Given the description of an element on the screen output the (x, y) to click on. 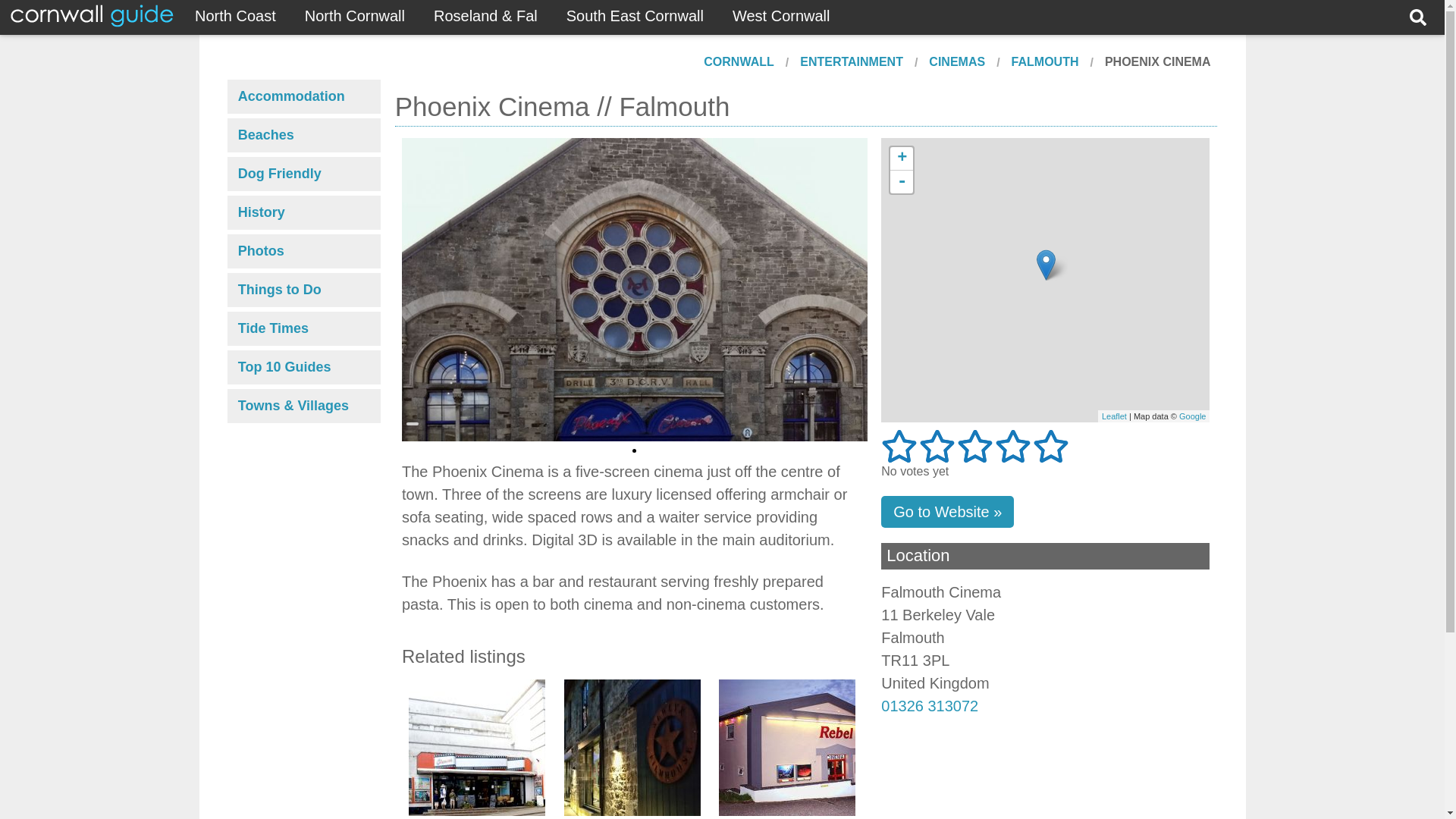
A JS library for interactive maps (1114, 415)
Zoom in (900, 158)
Zoom out (900, 181)
